Given the description of an element on the screen output the (x, y) to click on. 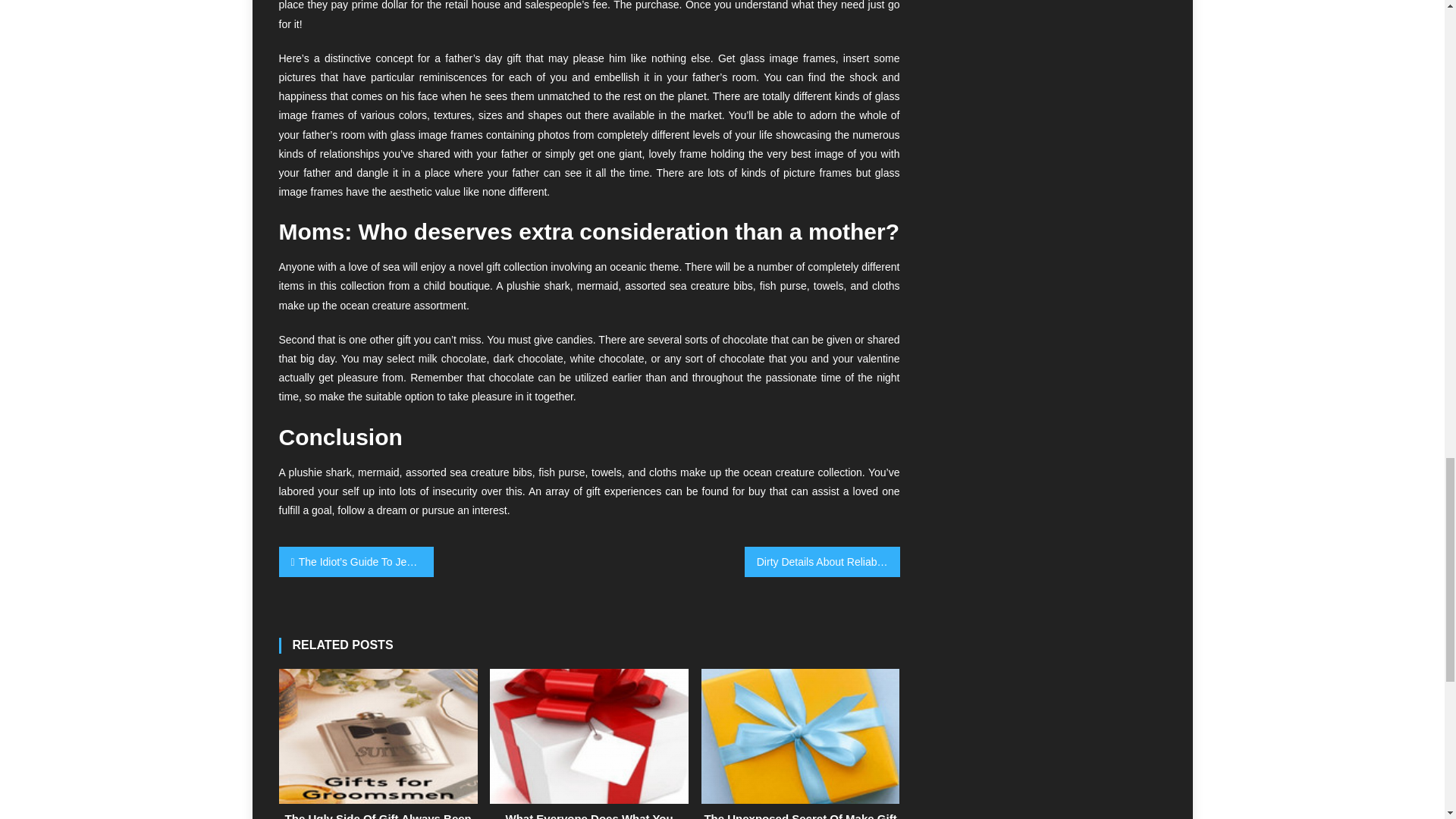
The Unexposed Secret Of Make Gift Card List (800, 815)
The Ugly Side Of Gift Always Been In Party (378, 815)
The Unexposed Secret of Make Gift Card List 5 (800, 736)
Dirty Details About Reliable Fashion Store Unveiled (821, 562)
The Ugly Side of Gift Always Been In Party 3 (378, 736)
